Given the description of an element on the screen output the (x, y) to click on. 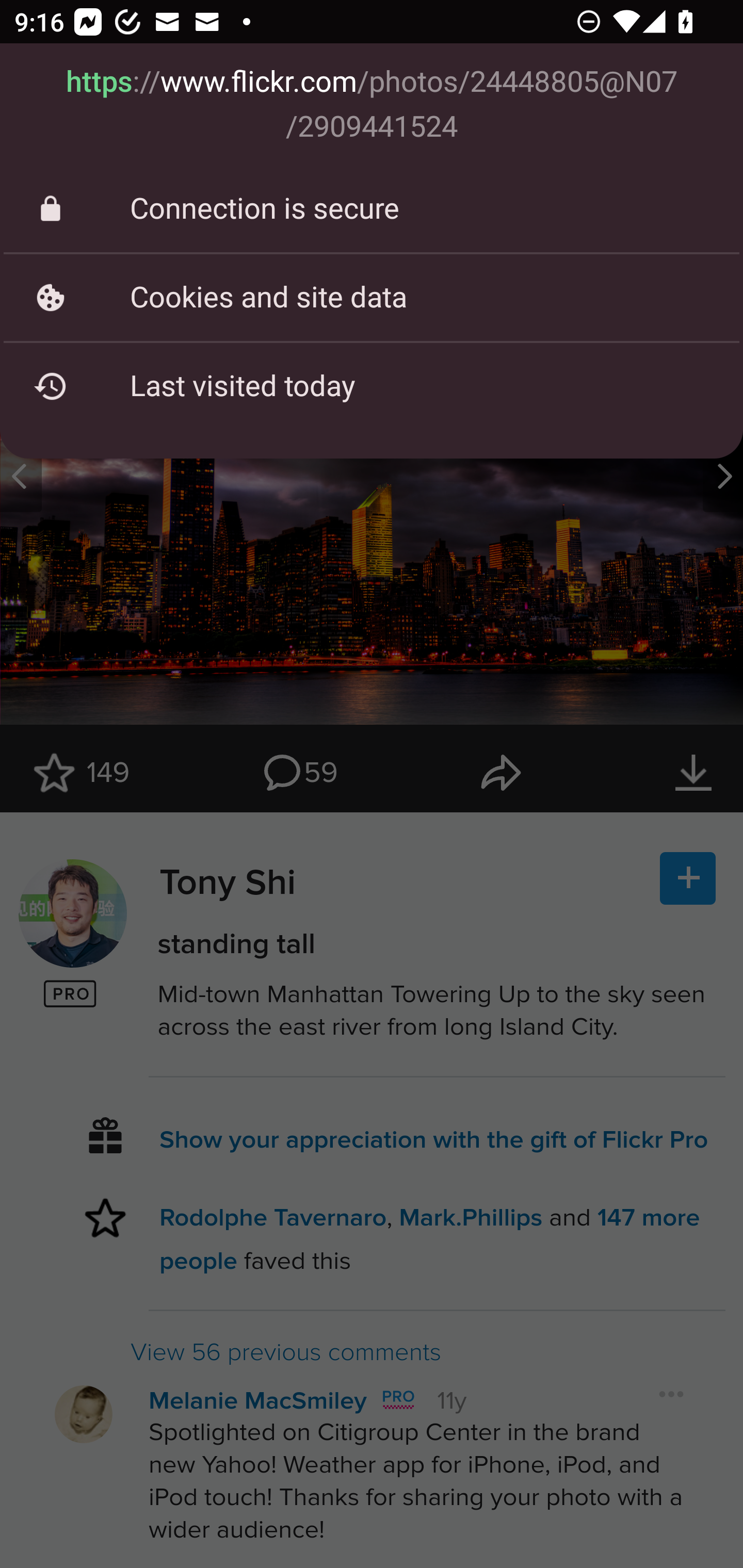
Connection is secure (371, 209)
Cookies and site data (371, 297)
Last visited today (371, 386)
